Given the description of an element on the screen output the (x, y) to click on. 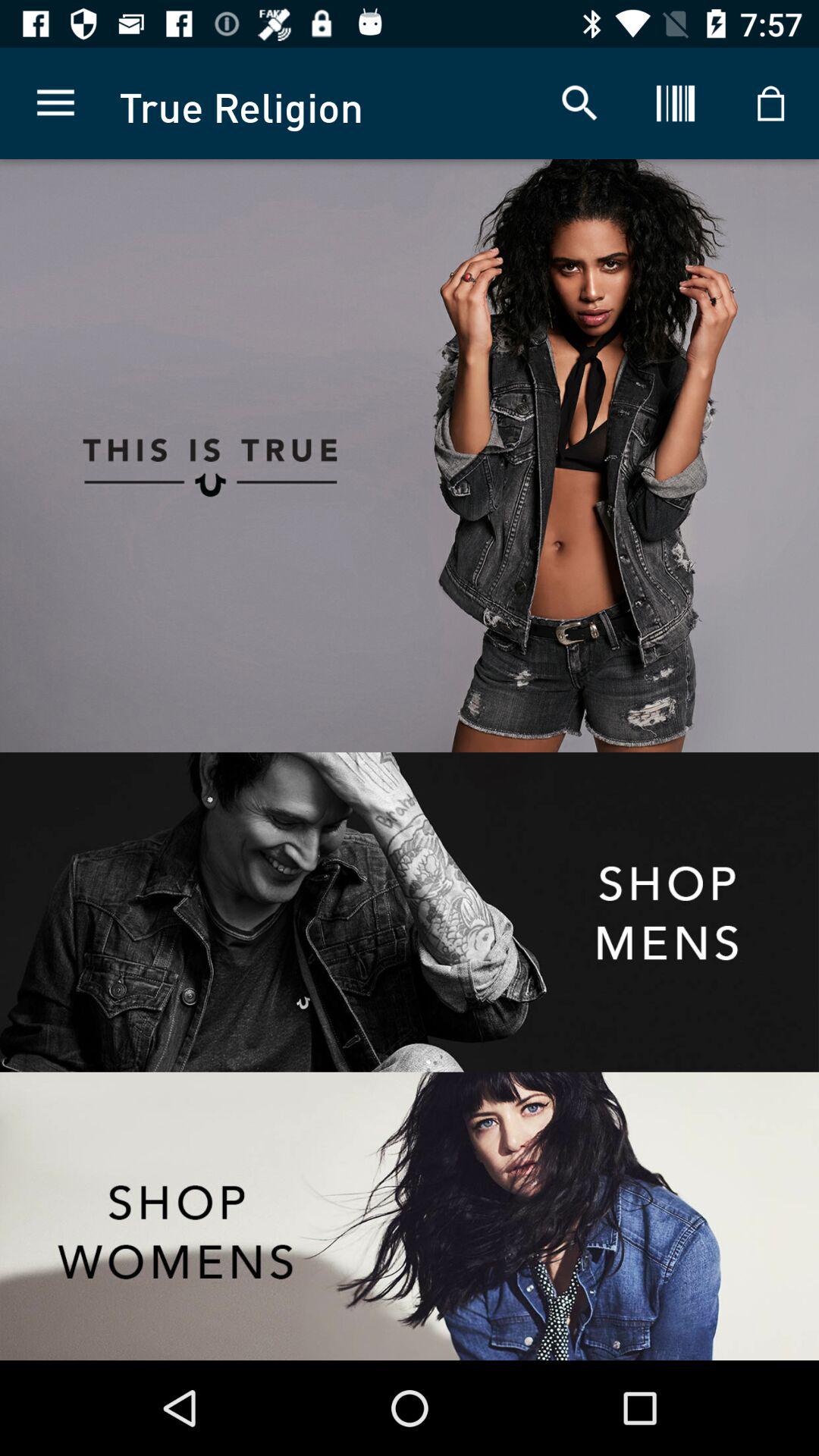
view image (614, 455)
